Given the description of an element on the screen output the (x, y) to click on. 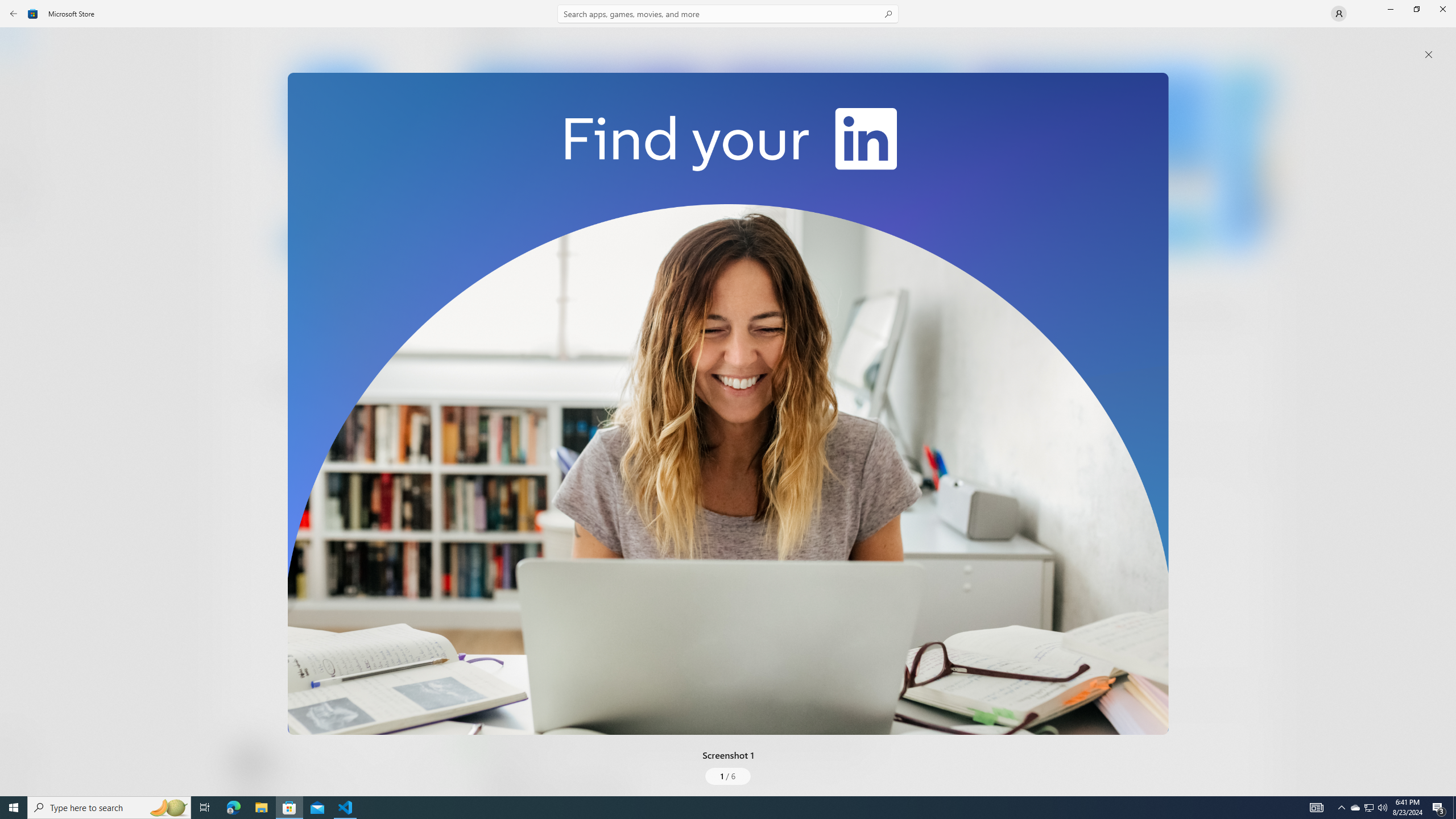
Age rating: TEEN. Click for more information. (276, 762)
Screenshot 4 (1247, 158)
AutomationID: NavigationControl (728, 398)
Social (329, 423)
Screenshot 1 (727, 403)
close popup window (1428, 54)
Show all ratings and reviews (477, 667)
LinkedIn (332, 189)
